Given the description of an element on the screen output the (x, y) to click on. 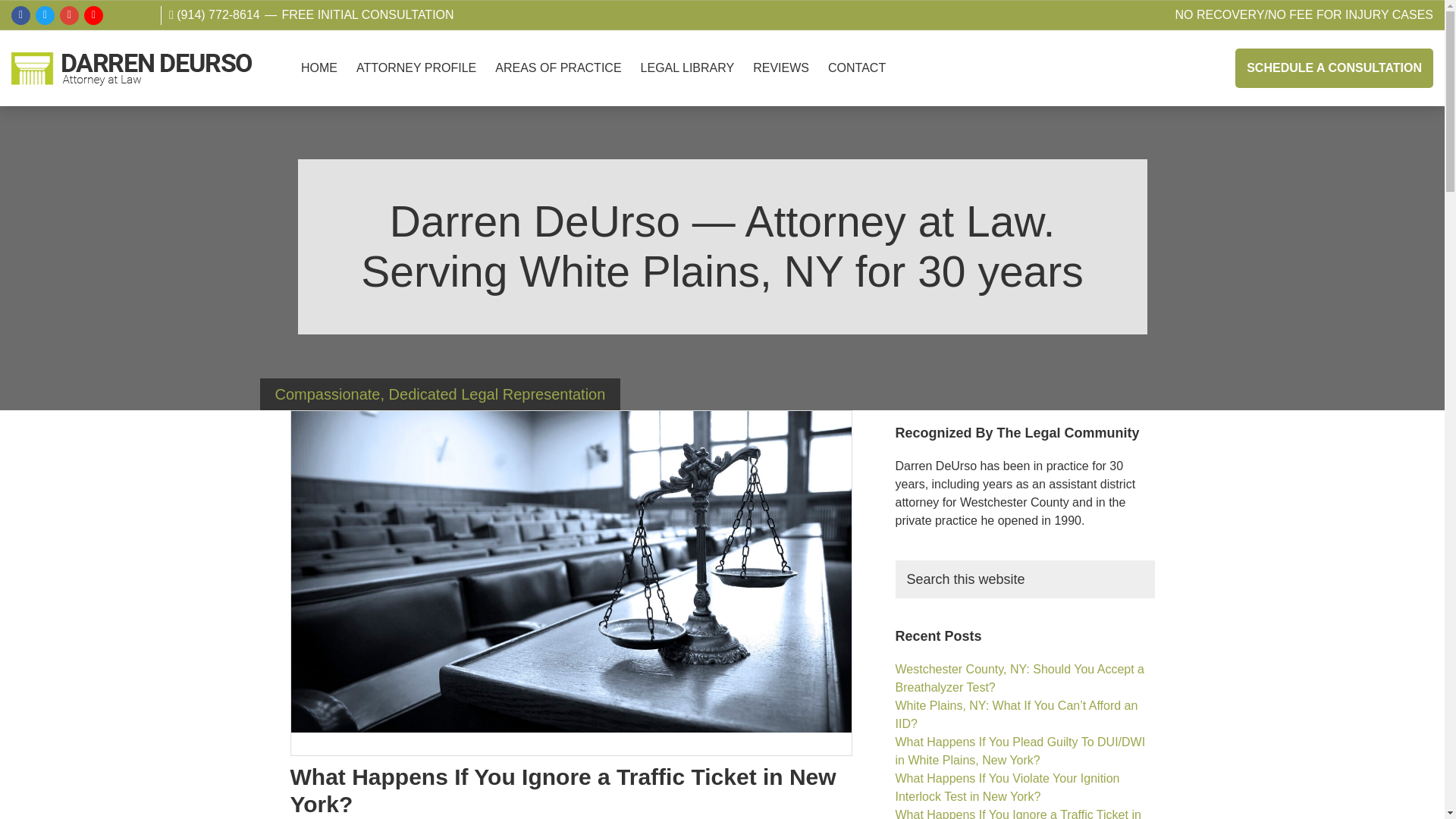
HOME (319, 83)
Darren DeUrso (38, 117)
MARTINDALE (116, 22)
AREAS OF PRACTICE (557, 83)
LAWYERS.COM (141, 22)
ATTORNEY PROFILE (416, 83)
LEGAL LIBRARY (687, 83)
